Given the description of an element on the screen output the (x, y) to click on. 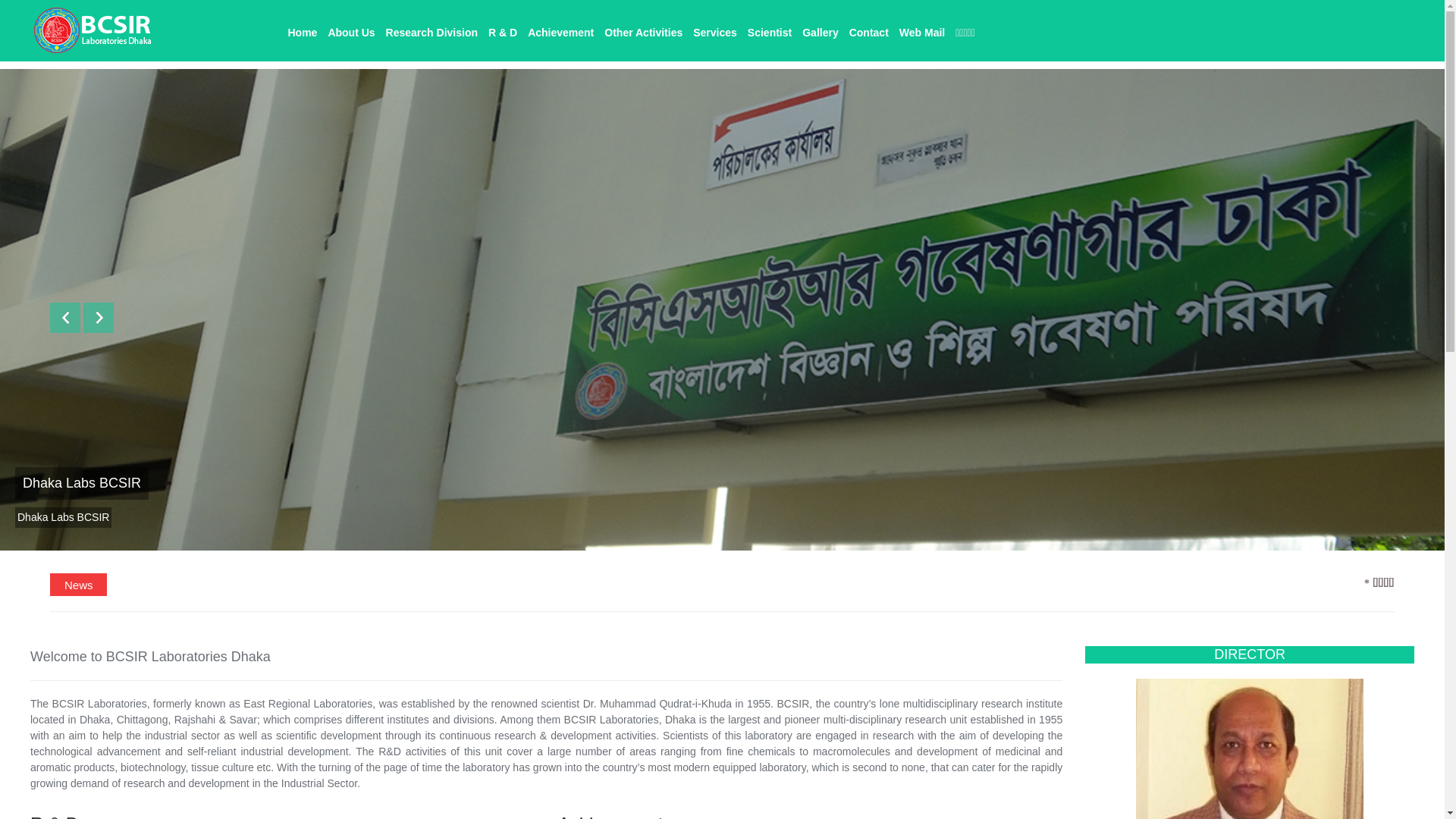
Spirulina Pond, BCSIR, Dhaka Element type: text (115, 483)
Services Element type: text (714, 30)
Web Mail Element type: text (922, 30)
About Us Element type: text (350, 30)
Next Element type: text (98, 316)
Achievement Element type: text (560, 30)
4 Element type: text (733, 576)
Scientist Element type: text (769, 30)
Previous Element type: text (65, 316)
Research Division Element type: text (431, 30)
2 Element type: text (688, 576)
Home Element type: text (302, 30)
3 Element type: text (710, 576)
Contact Element type: text (869, 30)
1 Element type: text (665, 576)
6 Element type: text (779, 576)
R & D Element type: text (502, 30)
Other Activities Element type: text (643, 30)
5 Element type: text (756, 576)
Gallery Element type: text (820, 30)
